Given the description of an element on the screen output the (x, y) to click on. 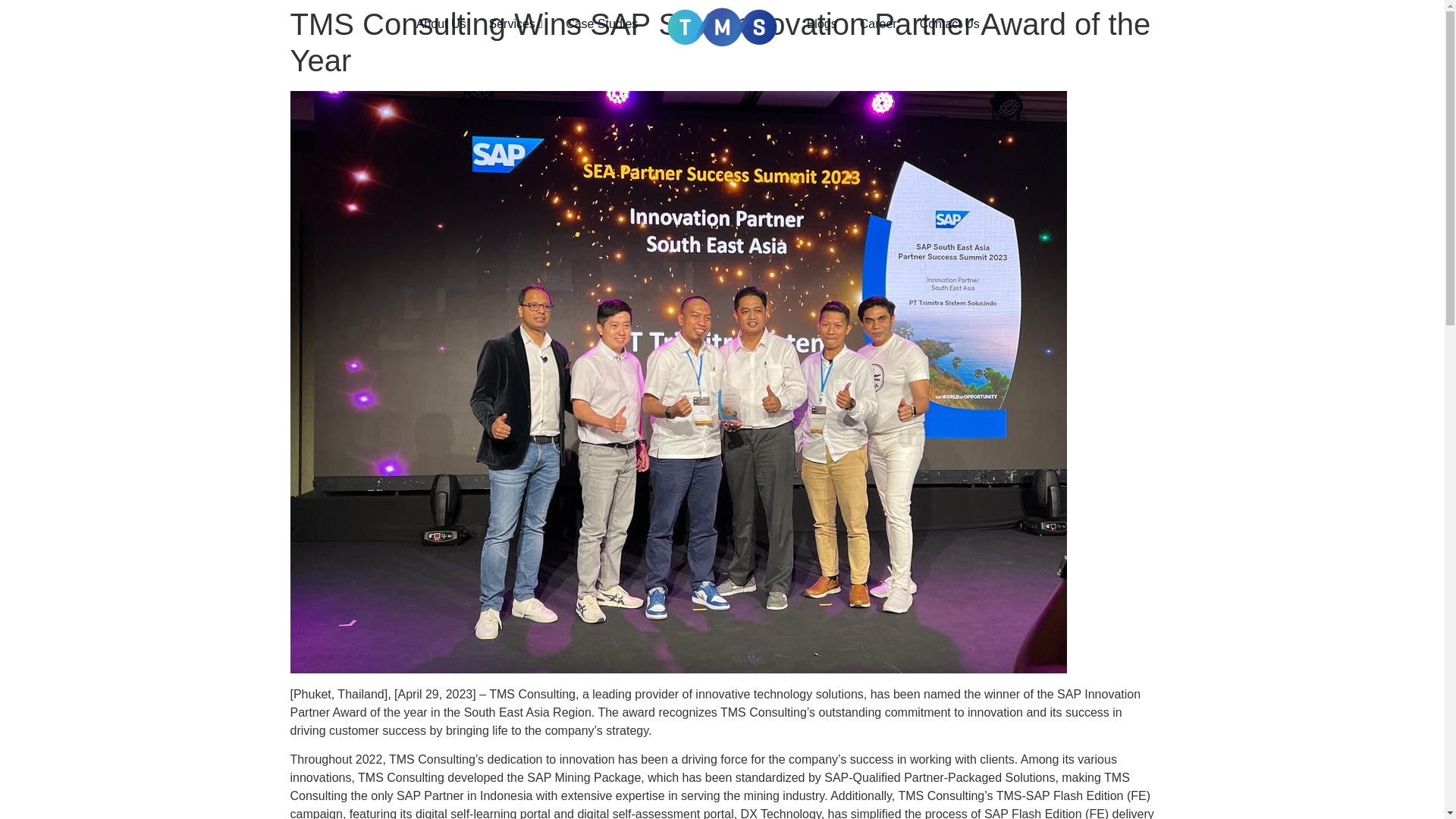
site-logo-medium (721, 26)
Services (515, 23)
About Us (441, 23)
